Given the description of an element on the screen output the (x, y) to click on. 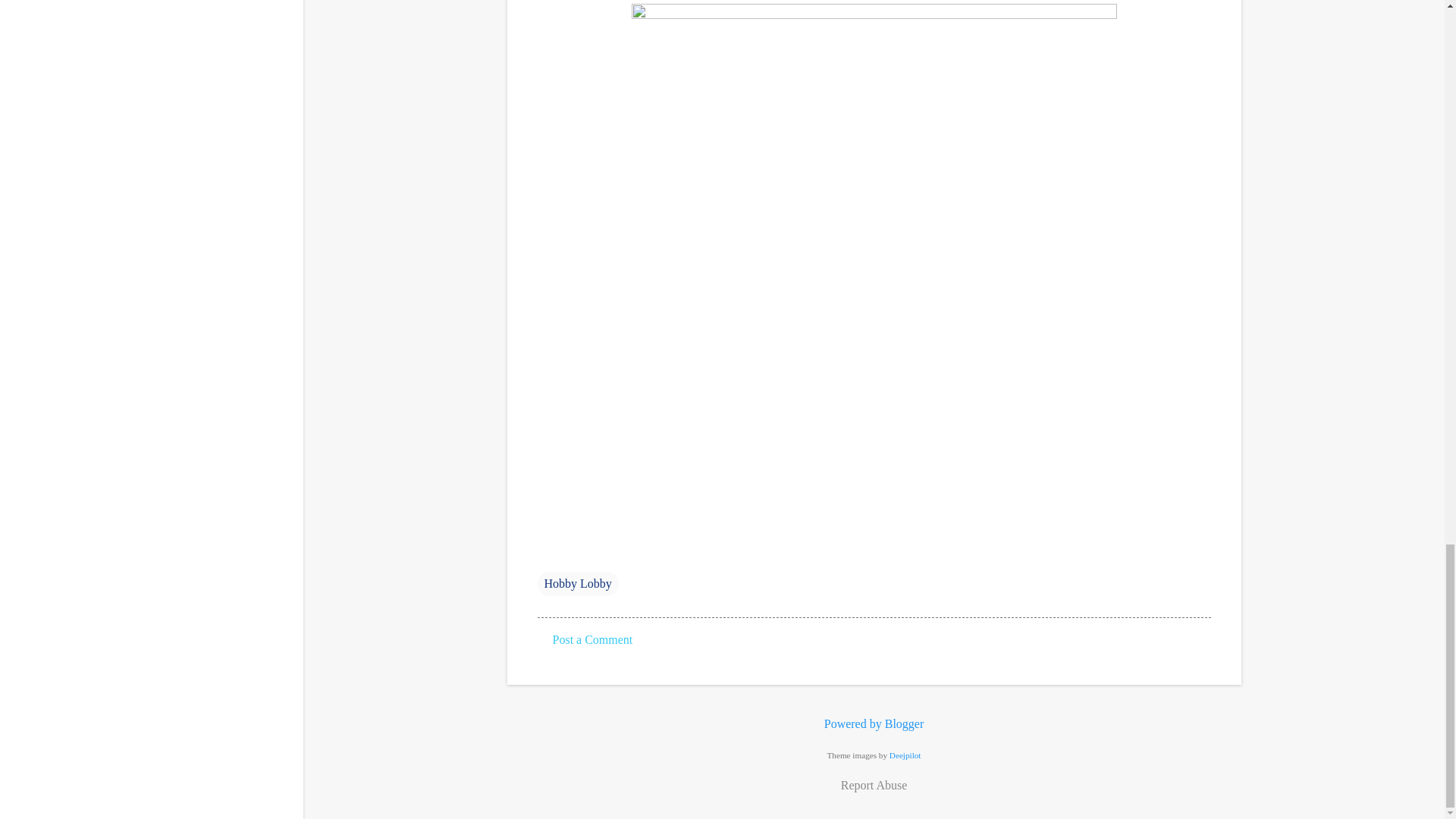
Hobby Lobby (577, 583)
Powered by Blogger (874, 723)
Email Post (545, 553)
Deejpilot (905, 755)
Post a Comment (591, 639)
Report Abuse (874, 785)
